Given the description of an element on the screen output the (x, y) to click on. 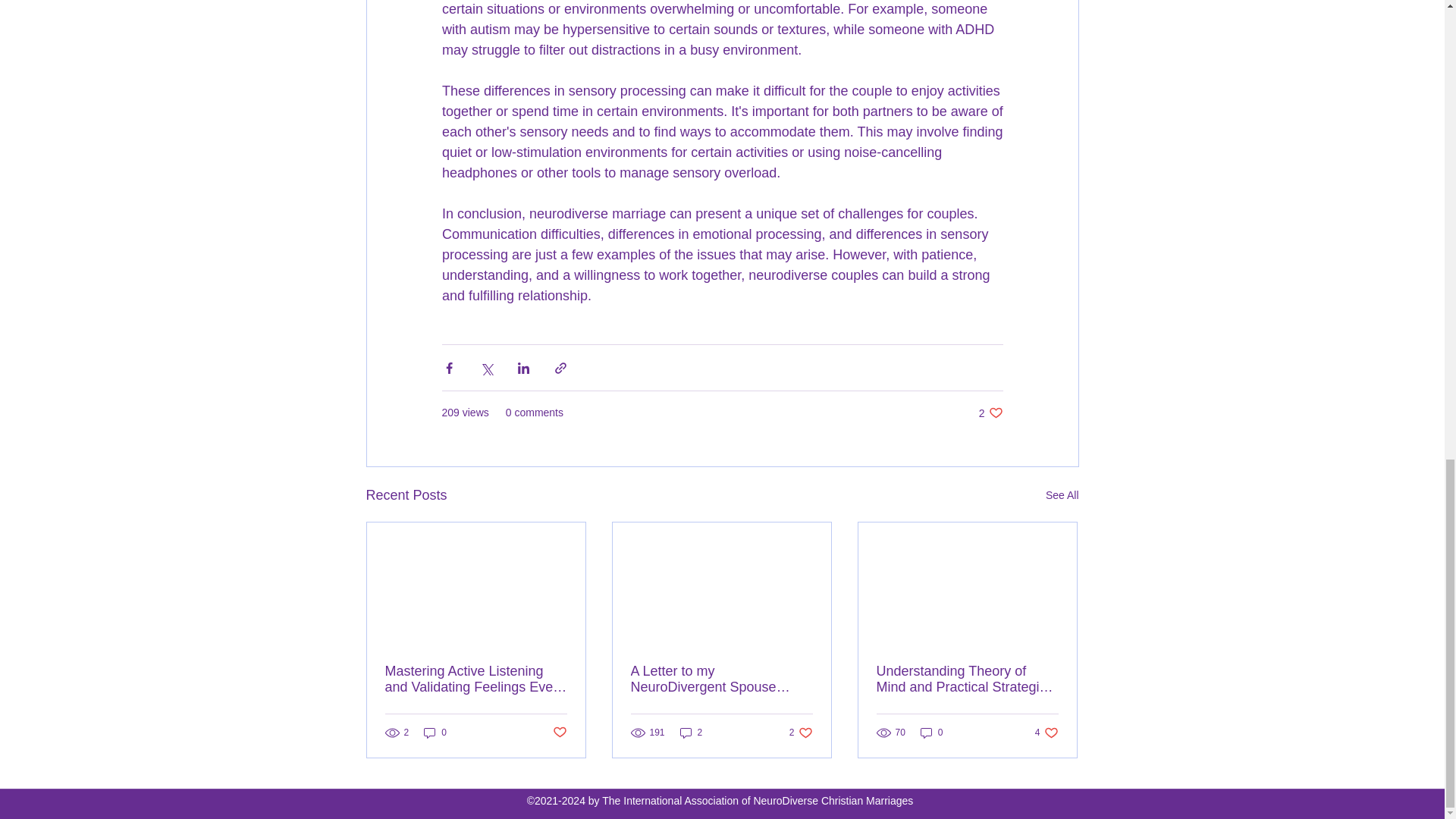
0 (800, 732)
0 (435, 732)
2 (931, 732)
See All (990, 412)
Post not marked as liked (691, 732)
